Given the description of an element on the screen output the (x, y) to click on. 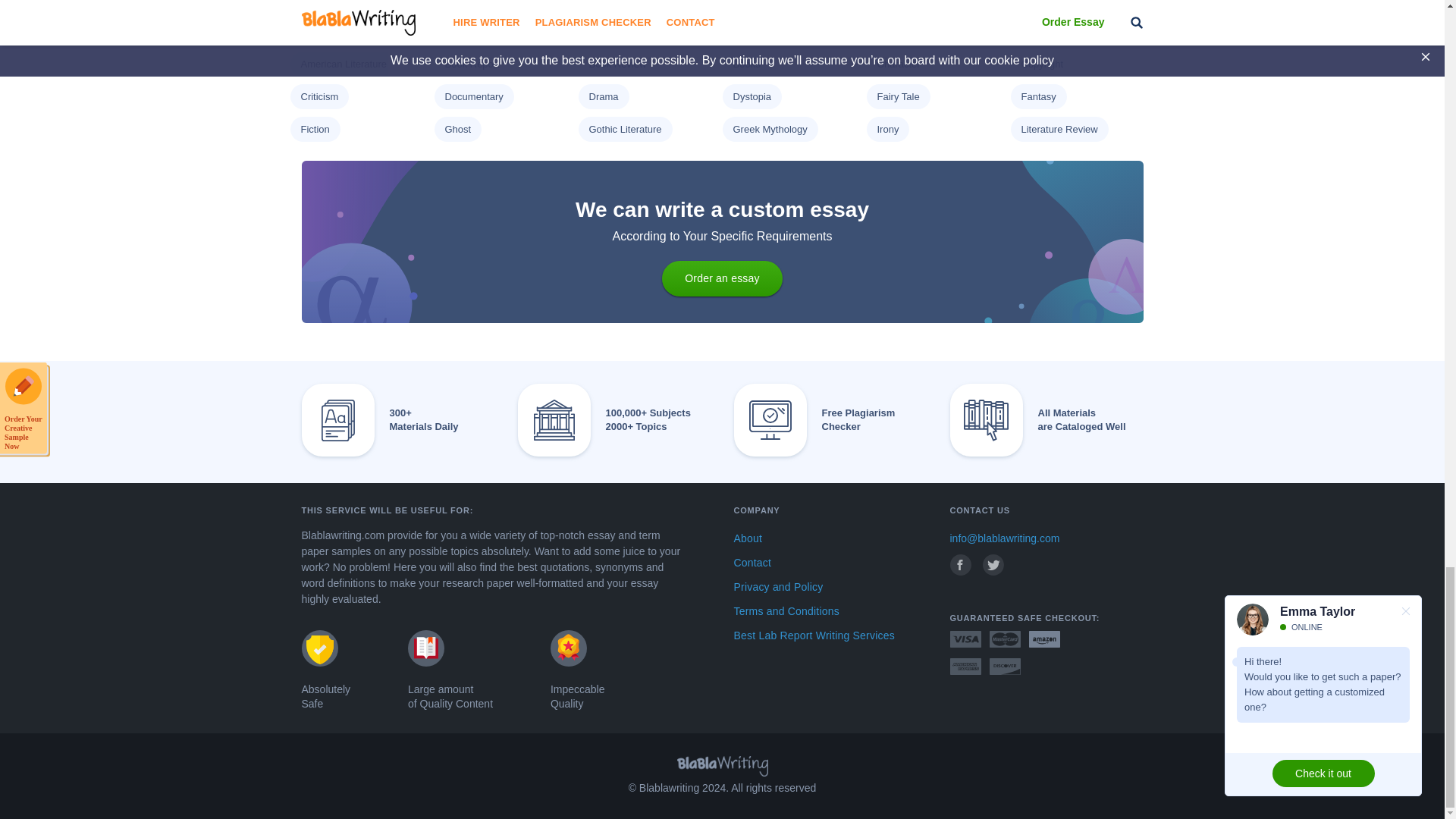
Human Sexuality (769, 2)
Homosexuality (620, 2)
Gender (316, 2)
Social Class (759, 30)
Modern (460, 30)
Gender Identity (478, 2)
Middle Class (1048, 2)
Minority (316, 30)
Masculinity (900, 2)
Personal Life (617, 30)
